Given the description of an element on the screen output the (x, y) to click on. 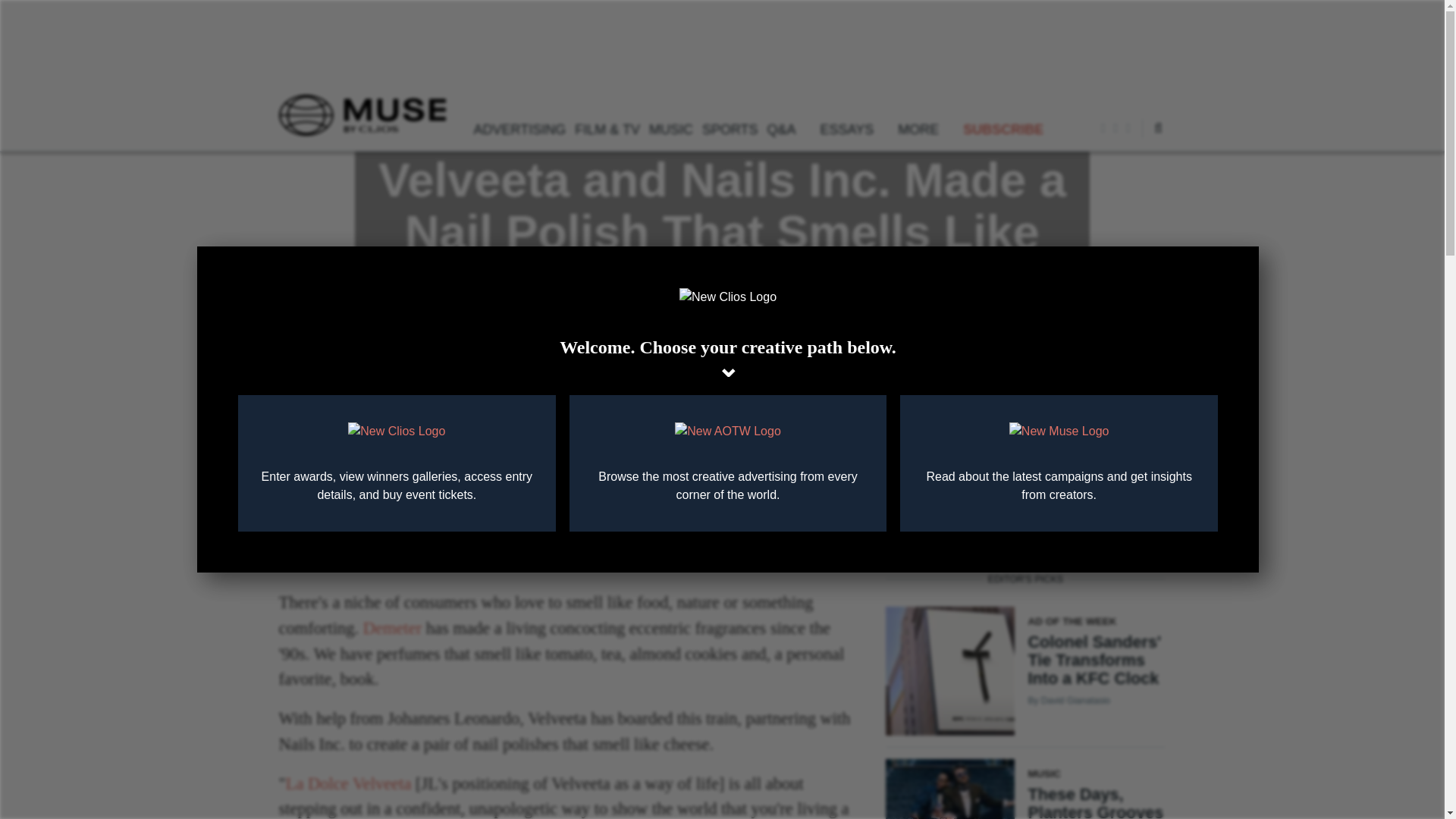
MUSIC (670, 126)
ESSAYS (854, 126)
MORE (925, 126)
Go (1118, 174)
SPORTS (729, 126)
ADVERTISING (519, 126)
SUBSCRIBE (1002, 126)
